Given the description of an element on the screen output the (x, y) to click on. 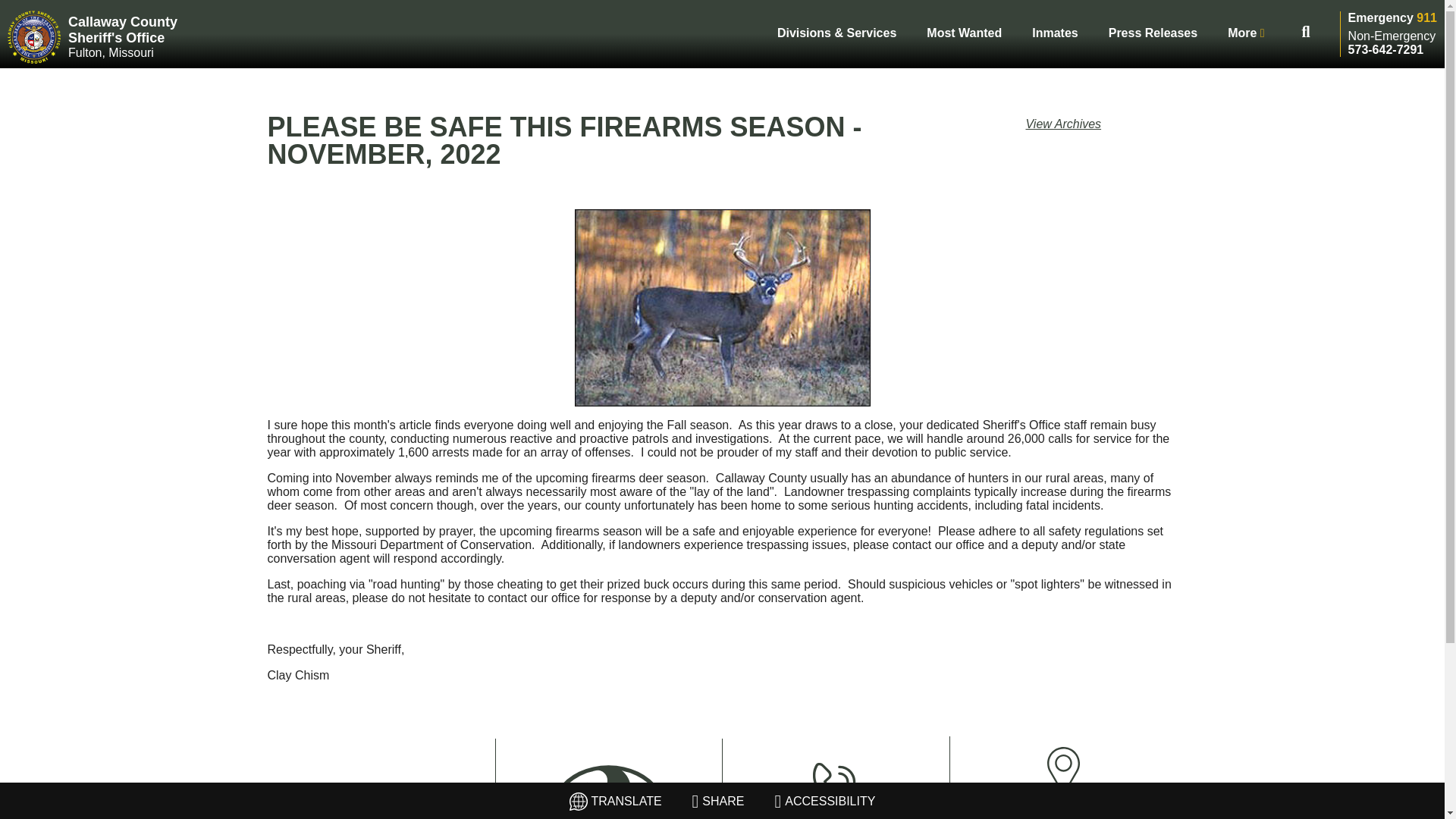
Emergency 911 (834, 815)
Most Wanted (963, 32)
Contact (1062, 807)
Inmates (1054, 32)
Emergency 911 (1392, 18)
Press Releases (1152, 32)
573-642-7291 (1385, 49)
Activates the site search (1305, 31)
View Archives (1062, 123)
Non-Emergency (122, 36)
More  (1391, 35)
